Given the description of an element on the screen output the (x, y) to click on. 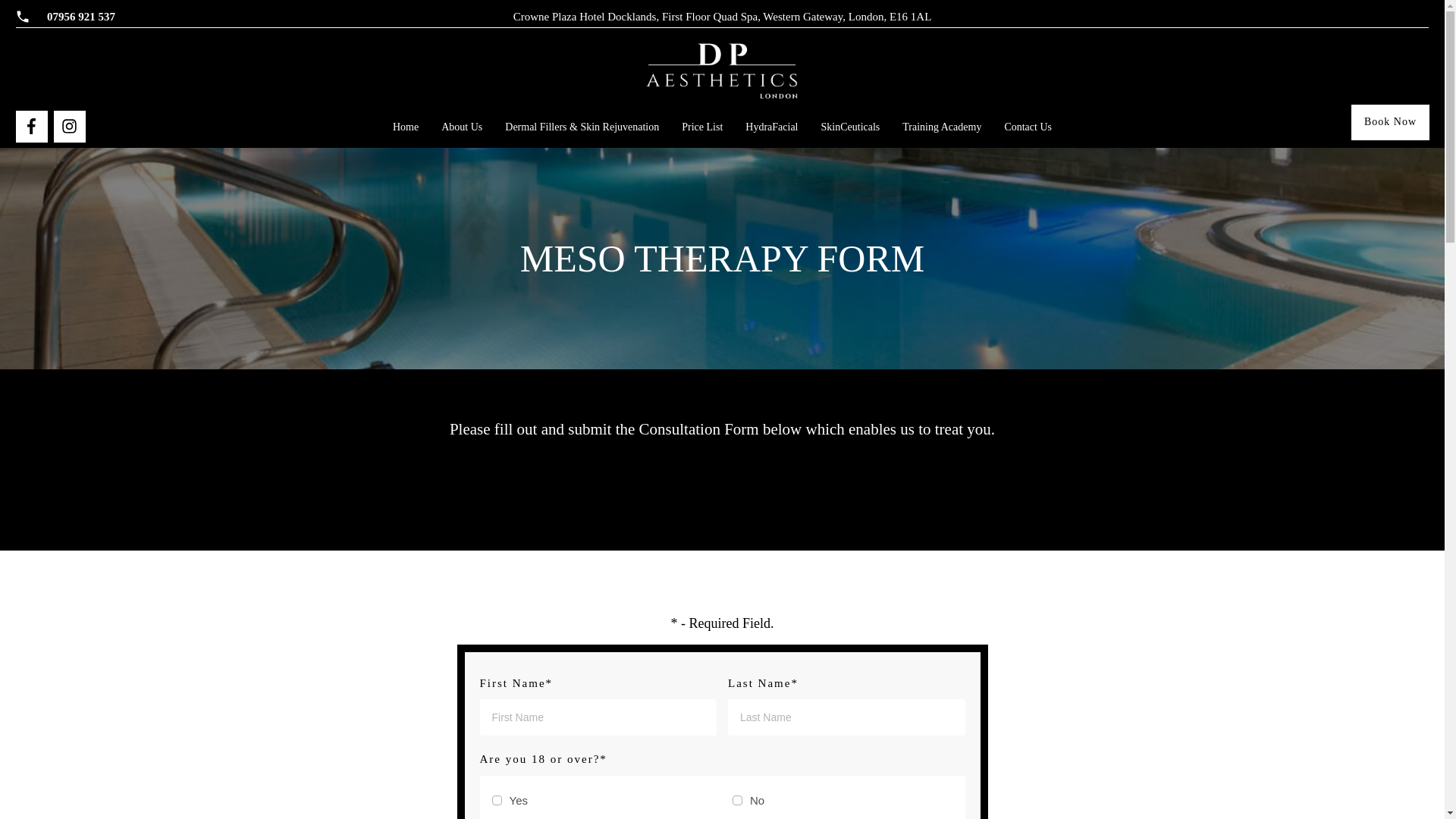
Home (406, 127)
Contact Us (1027, 127)
Book Now (1390, 122)
About Us (461, 127)
HydraFacial (771, 127)
Price List (701, 127)
07956 921 537 (80, 16)
Training Academy (941, 127)
SkinCeuticals (850, 127)
